Given the description of an element on the screen output the (x, y) to click on. 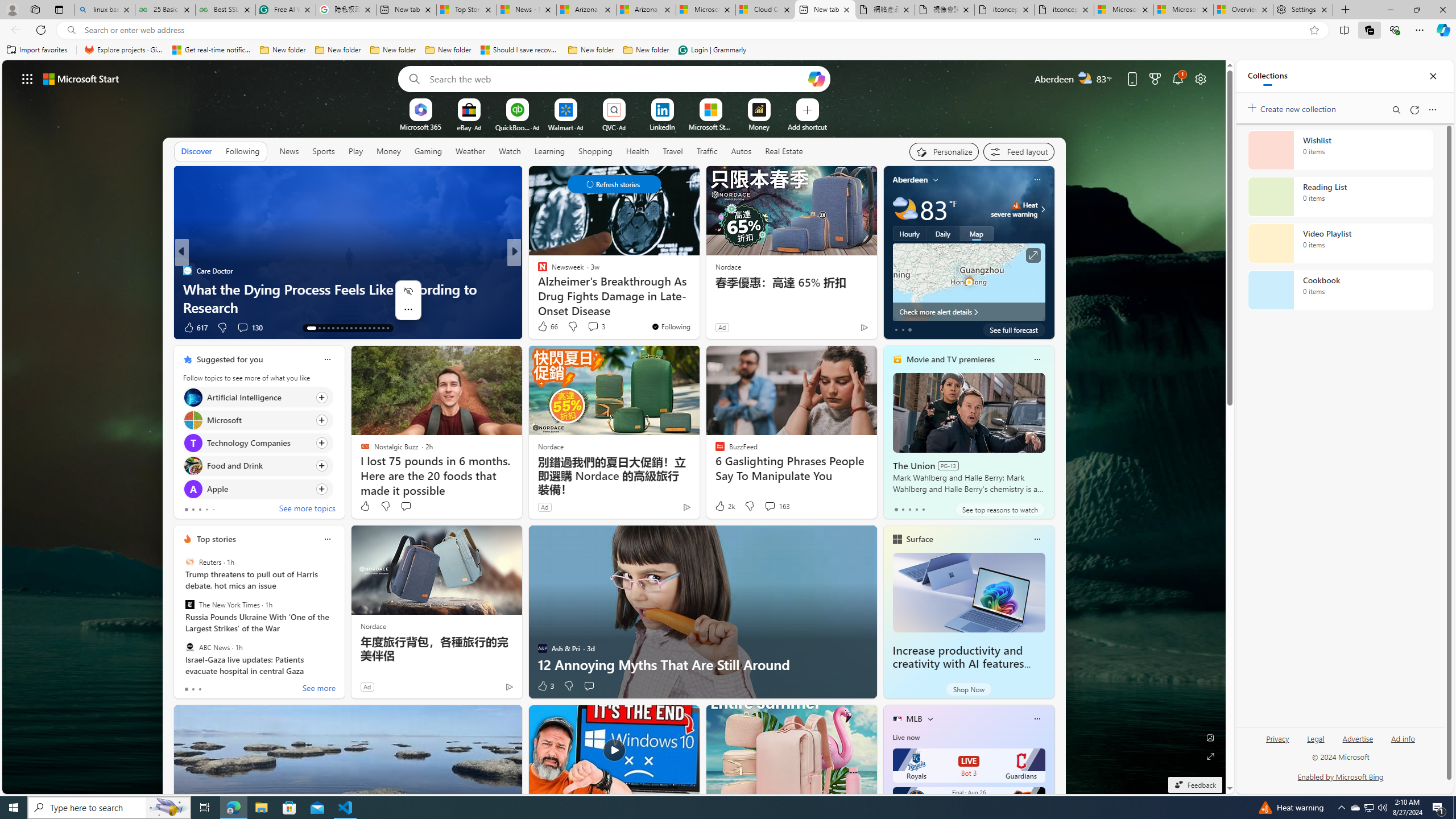
477 Like (545, 327)
Food and Drink (192, 466)
tom's Hardware (537, 270)
20 Ways to Boost Your Protein Intake at Every Meal (697, 307)
itconcepthk.com/projector_solutions.mp4 (1064, 9)
AutomationID: tab-26 (374, 328)
Best SSL Certificates Provider in India - GeeksforGeeks (225, 9)
View comments 2 Comment (589, 327)
Housely (537, 288)
PC World (537, 270)
MLB (914, 718)
